Given the description of an element on the screen output the (x, y) to click on. 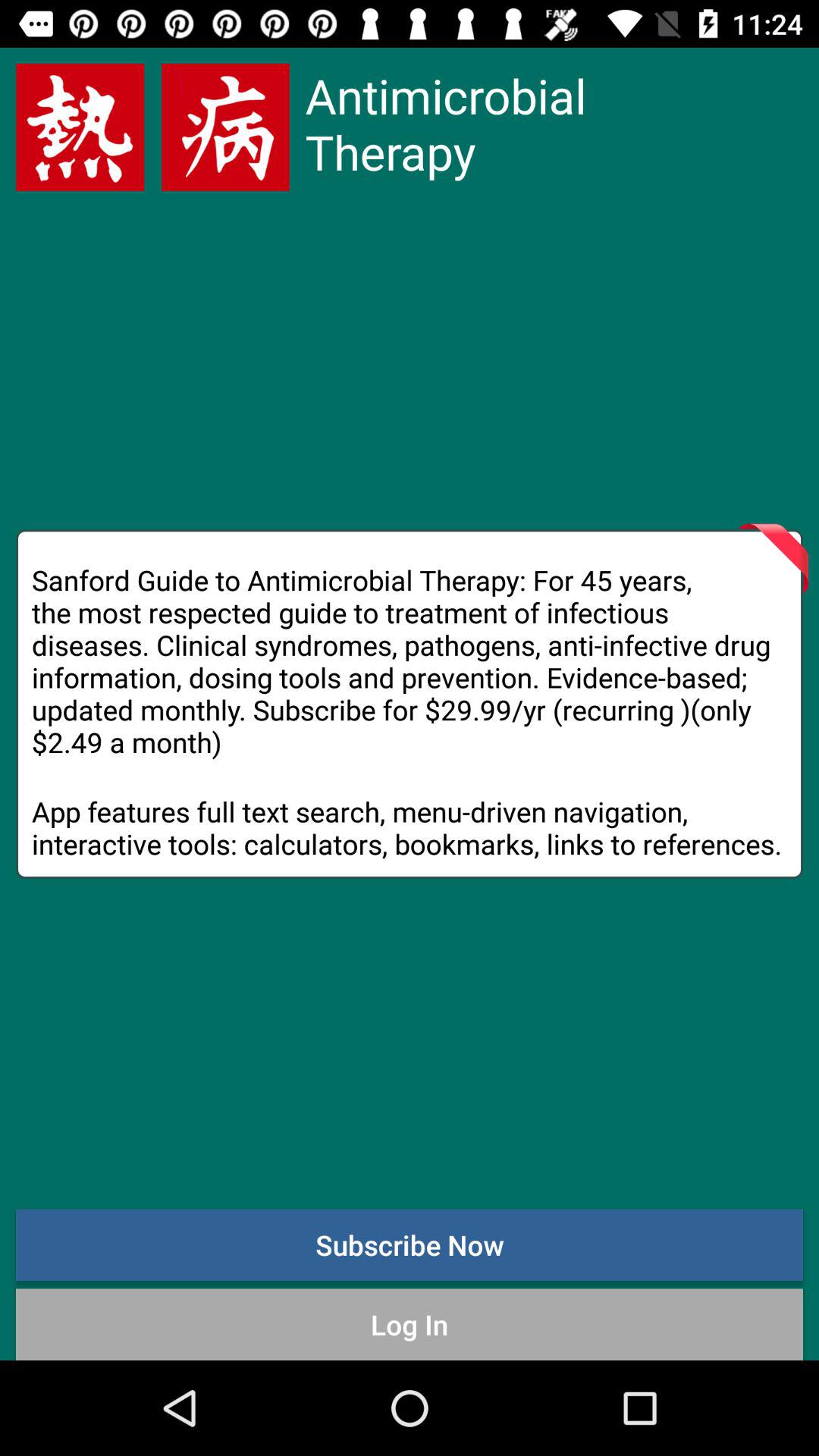
turn on the icon below app features full item (409, 1244)
